Given the description of an element on the screen output the (x, y) to click on. 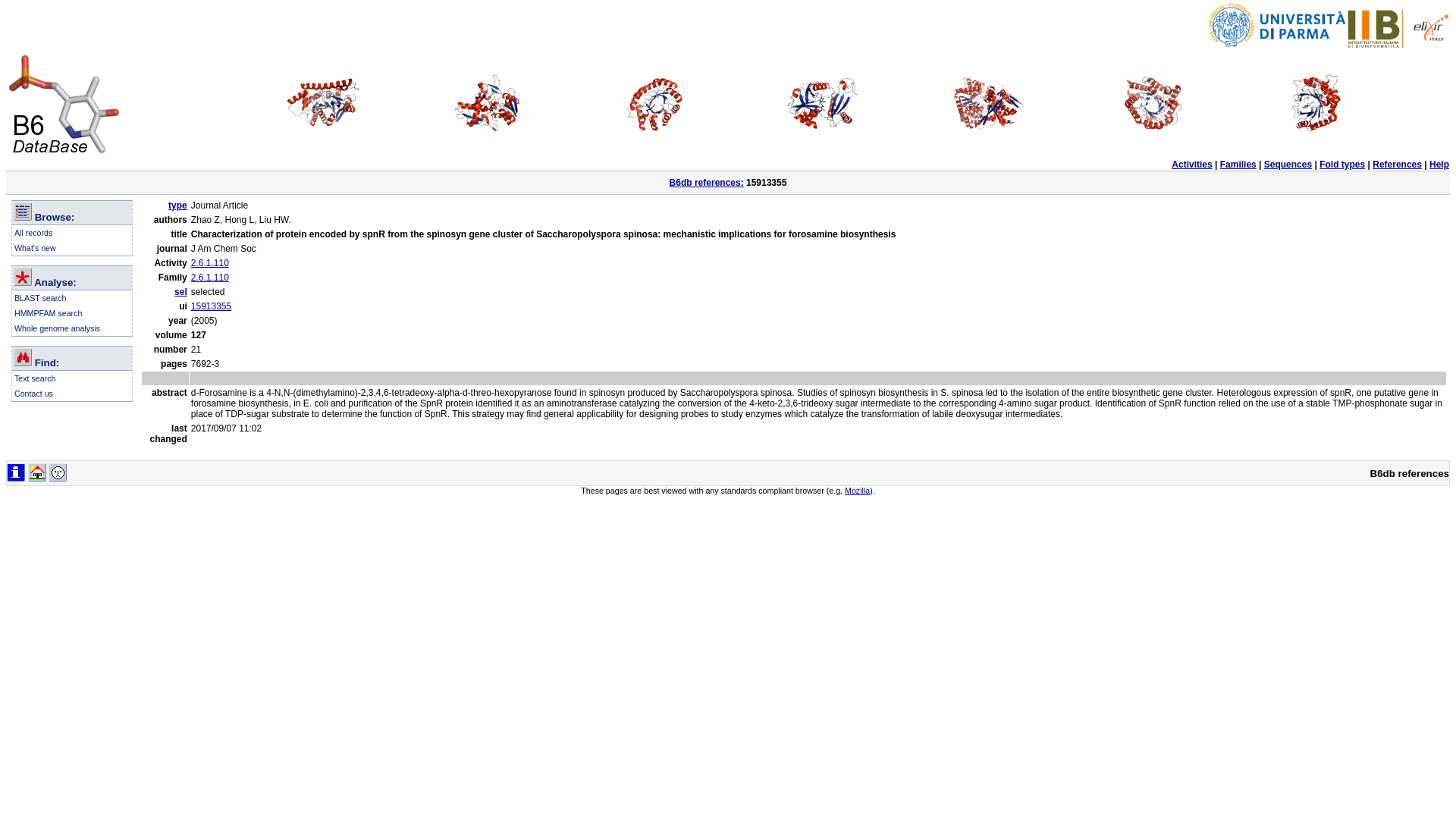
browse (22, 211)
2.6.1.110 (209, 276)
FOLD TYPE VI (1154, 102)
All records (33, 232)
view how record was changing over time (15, 471)
FOLD TYPE VII (1320, 102)
Families (1238, 163)
FOLD TYPE III (656, 102)
search (22, 357)
University of Parma (1276, 24)
Whole genome analysis (57, 327)
type (177, 204)
Fold types (1342, 163)
HOME (36, 471)
BLAST search (40, 297)
